Given the description of an element on the screen output the (x, y) to click on. 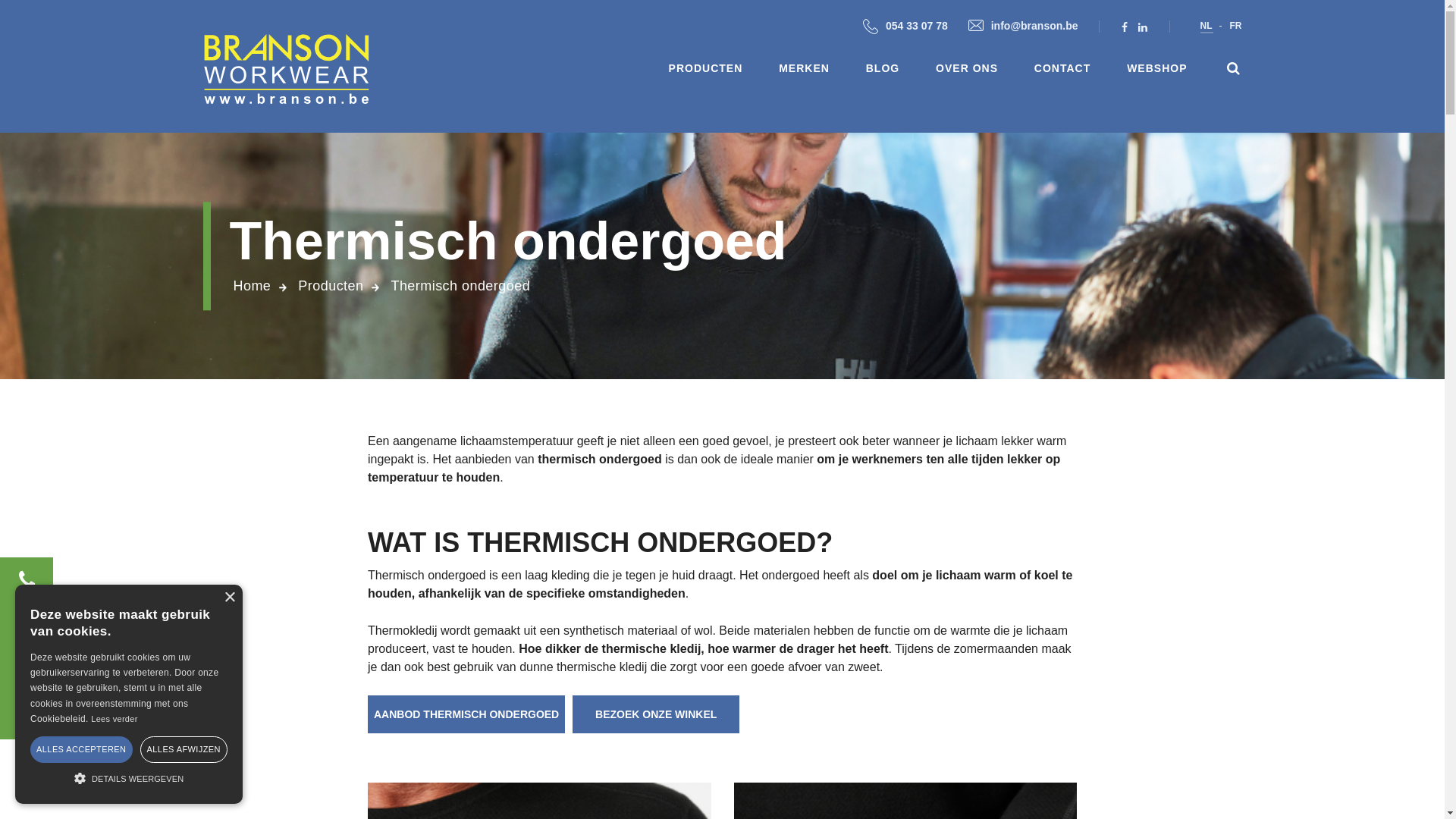
OVER ONS Element type: text (966, 71)
AANBOD THERMISCH ONDERGOED Element type: text (465, 714)
WEBSHOP Element type: text (1156, 71)
info@branson.be Element type: text (1023, 26)
NL Element type: text (1205, 25)
Lees verder Element type: text (114, 718)
BLOG Element type: text (882, 71)
FR Element type: text (1236, 25)
PRODUCTEN Element type: text (705, 71)
Thermisch ondergoed Element type: text (460, 285)
Home Element type: text (252, 285)
MERKEN Element type: text (803, 71)
054 33 07 78 Element type: text (904, 26)
BEZOEK ONZE WINKEL Element type: text (655, 714)
CONTACT Element type: text (1062, 71)
AANBOD THERMISCH ONDERGOED Element type: text (469, 713)
BEZOEK ONZE WINKEL Element type: text (655, 713)
Producten Element type: text (330, 285)
